Given the description of an element on the screen output the (x, y) to click on. 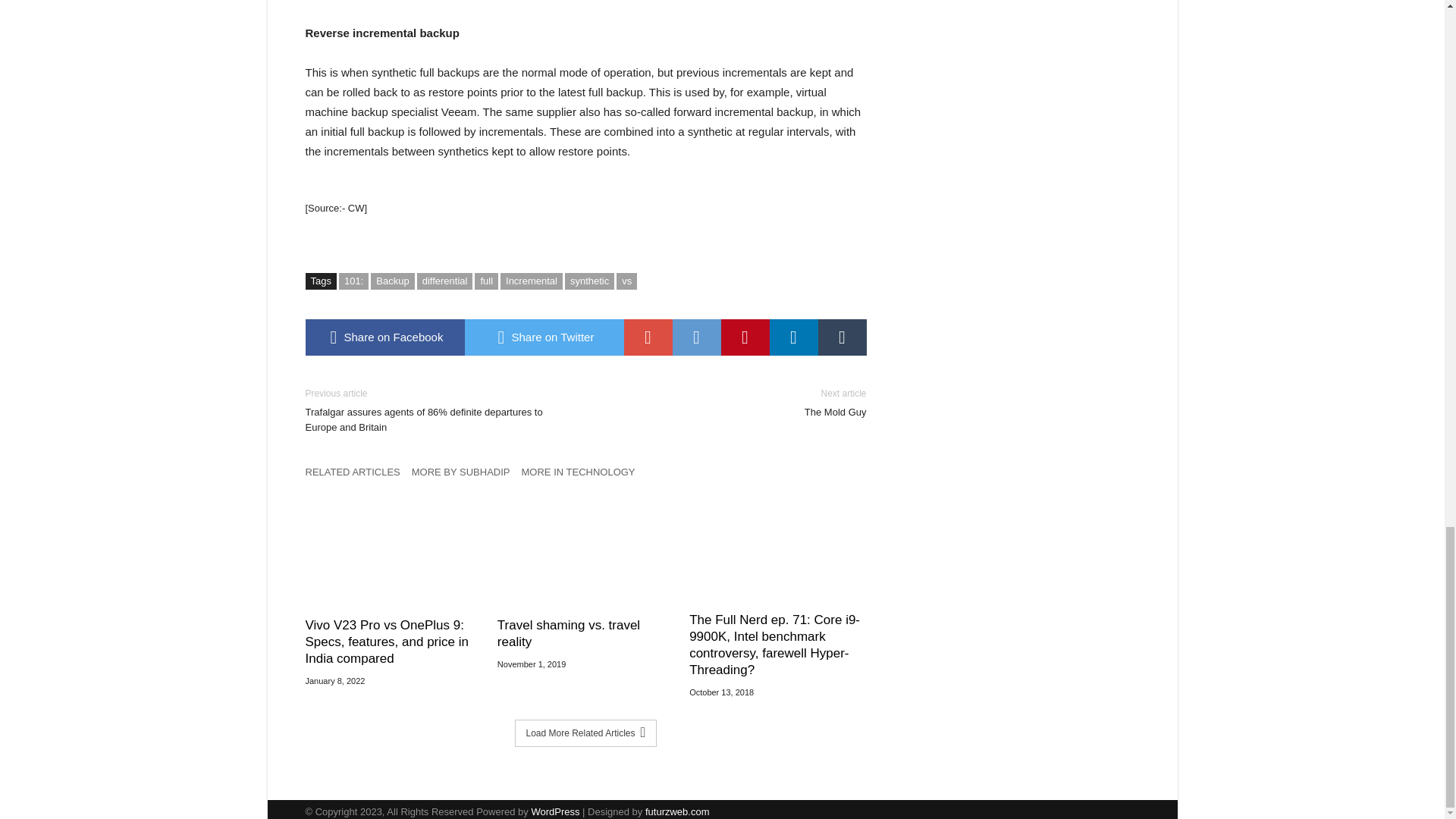
Share on Pinterest (737, 402)
pinterest (744, 337)
synthetic (744, 337)
Share on Reddit (589, 280)
vs (695, 337)
reddit (626, 280)
Backup (695, 337)
Share on Twitter (392, 280)
tumblr (543, 337)
